Given the description of an element on the screen output the (x, y) to click on. 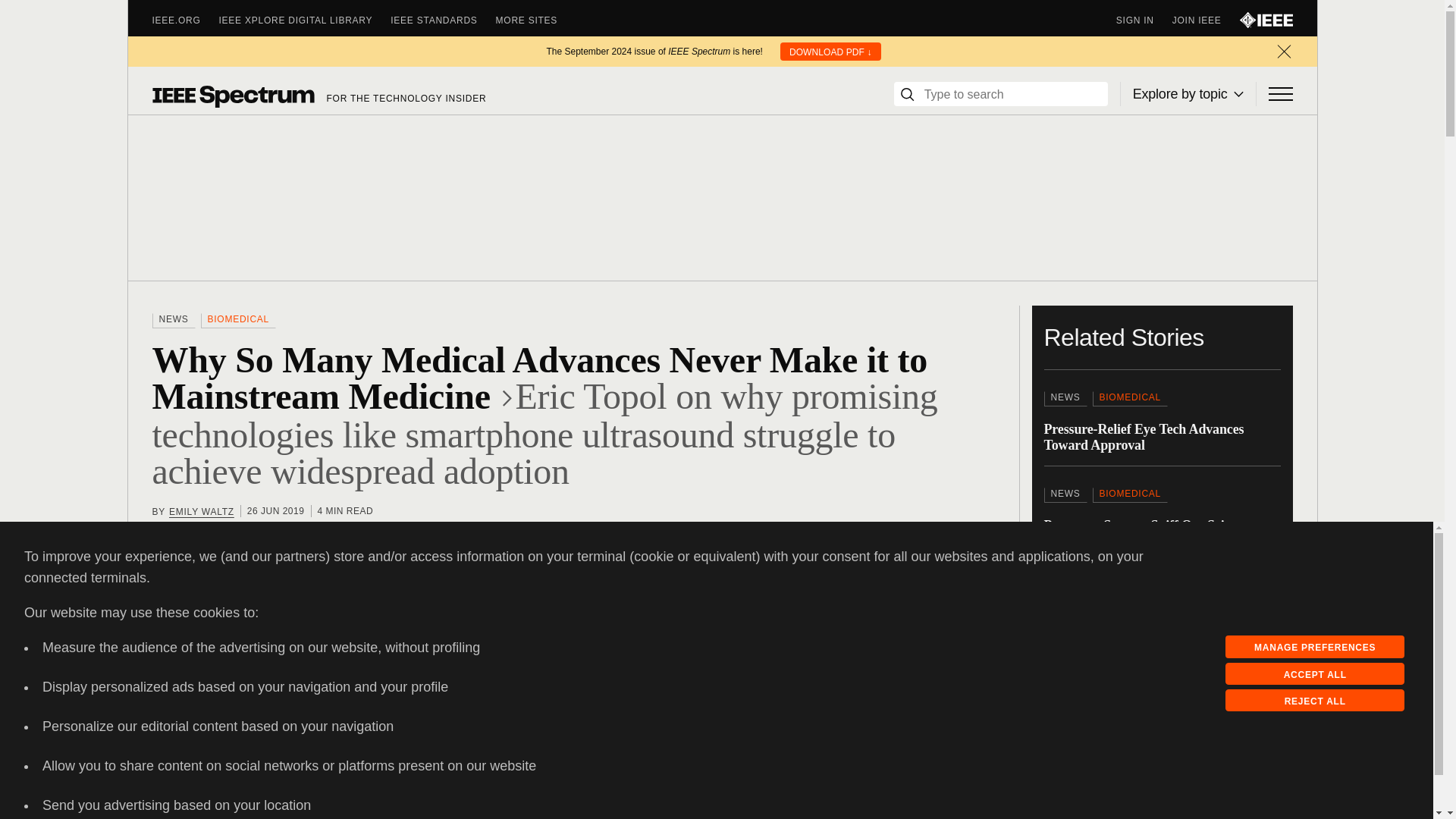
IEEE.ORG (184, 20)
MANAGE PREFERENCES (1315, 646)
SIGN IN (1144, 20)
IEEE XPLORE DIGITAL LIBRARY (305, 20)
Spectrum Logo (232, 95)
JOIN IEEE (1206, 20)
MORE SITES (536, 20)
IEEE STANDARDS (442, 20)
Close bar (1283, 51)
Search (907, 93)
